Given the description of an element on the screen output the (x, y) to click on. 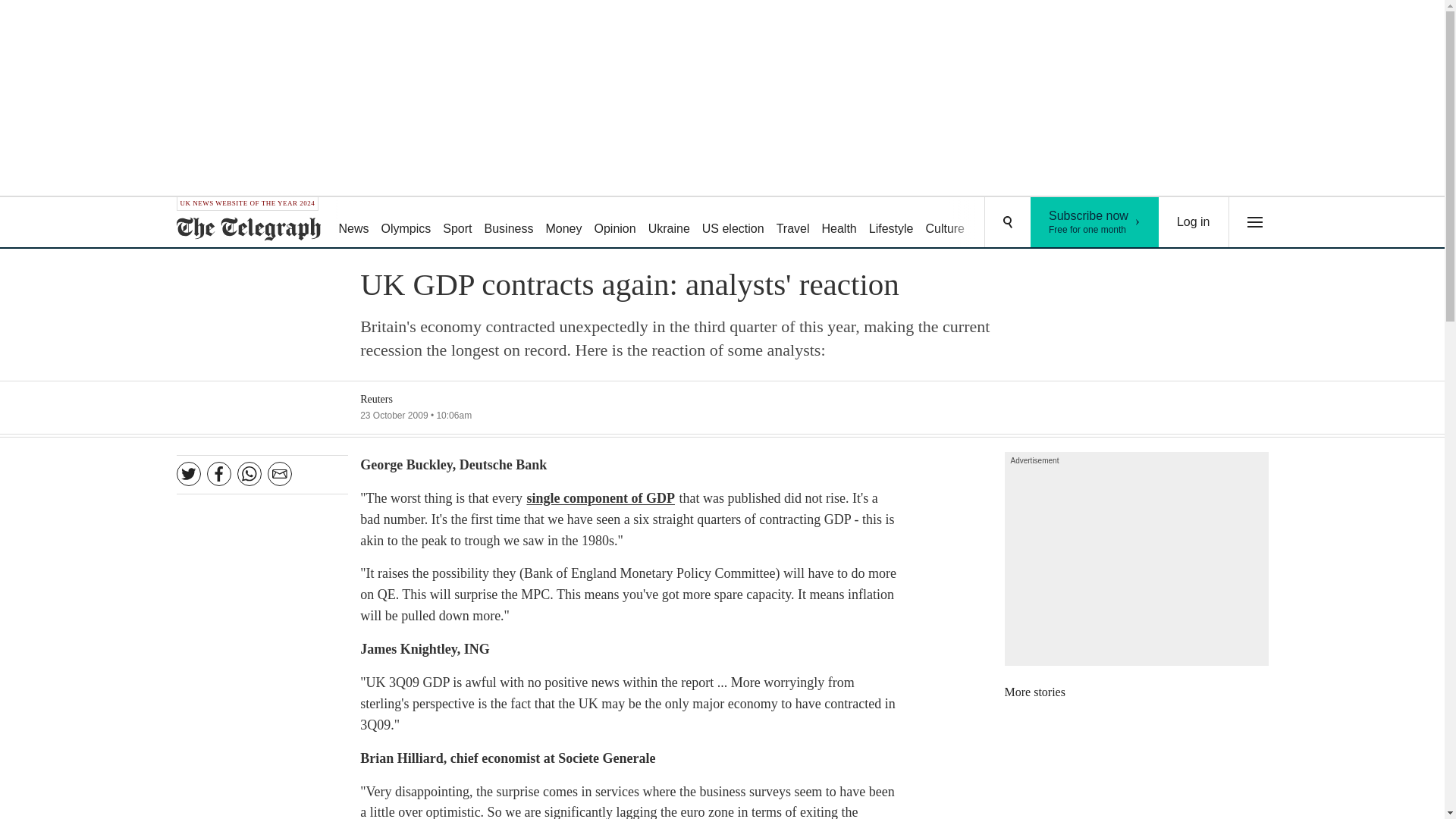
Lifestyle (891, 223)
Money (563, 223)
Travel (792, 223)
Podcasts (1056, 223)
US election (732, 223)
Business (509, 223)
Log in (1193, 222)
Puzzles (998, 223)
Ukraine (668, 223)
Olympics (406, 223)
